Given the description of an element on the screen output the (x, y) to click on. 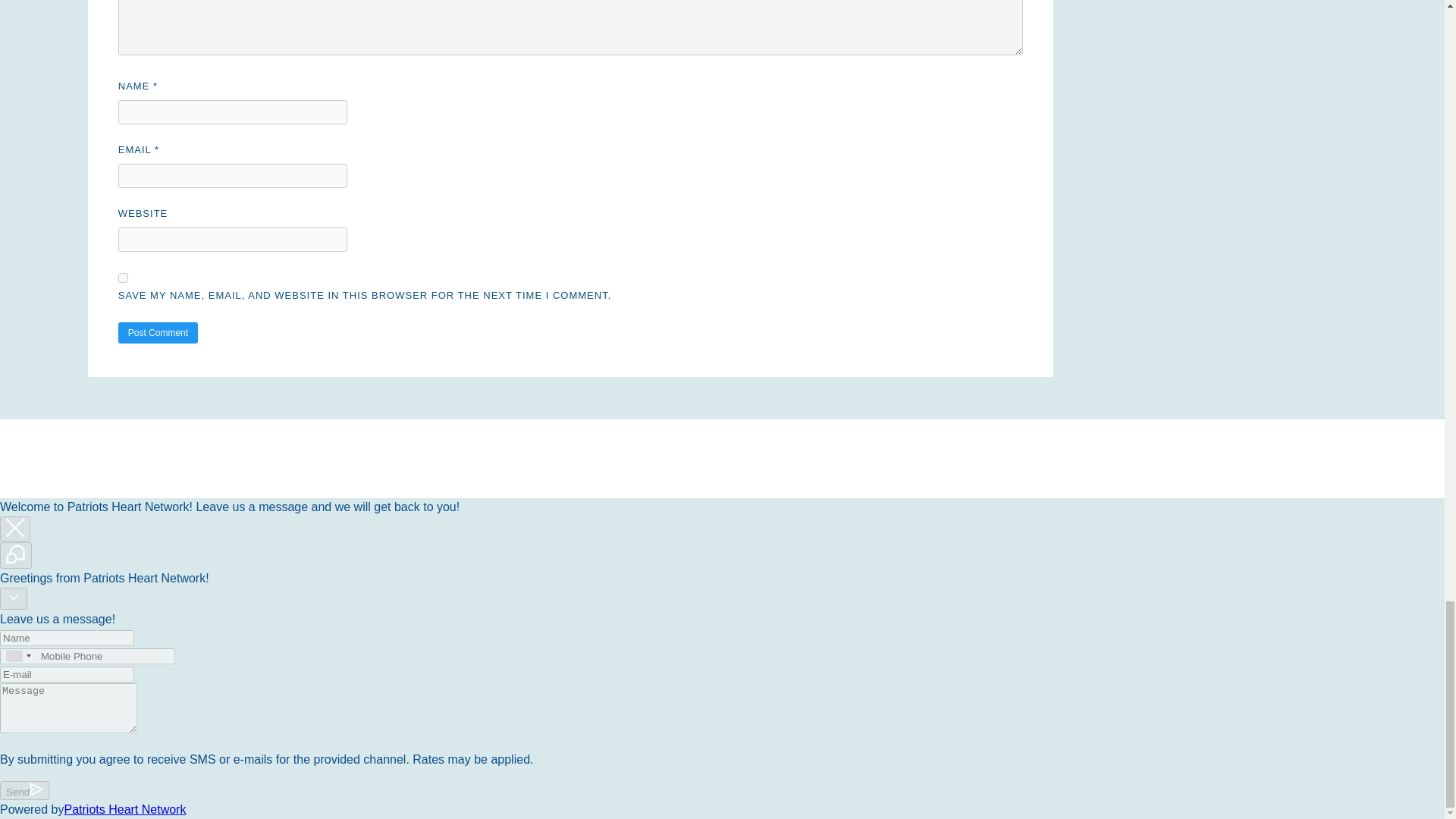
Post Comment (157, 332)
Post Comment (157, 332)
yes (122, 277)
